Given the description of an element on the screen output the (x, y) to click on. 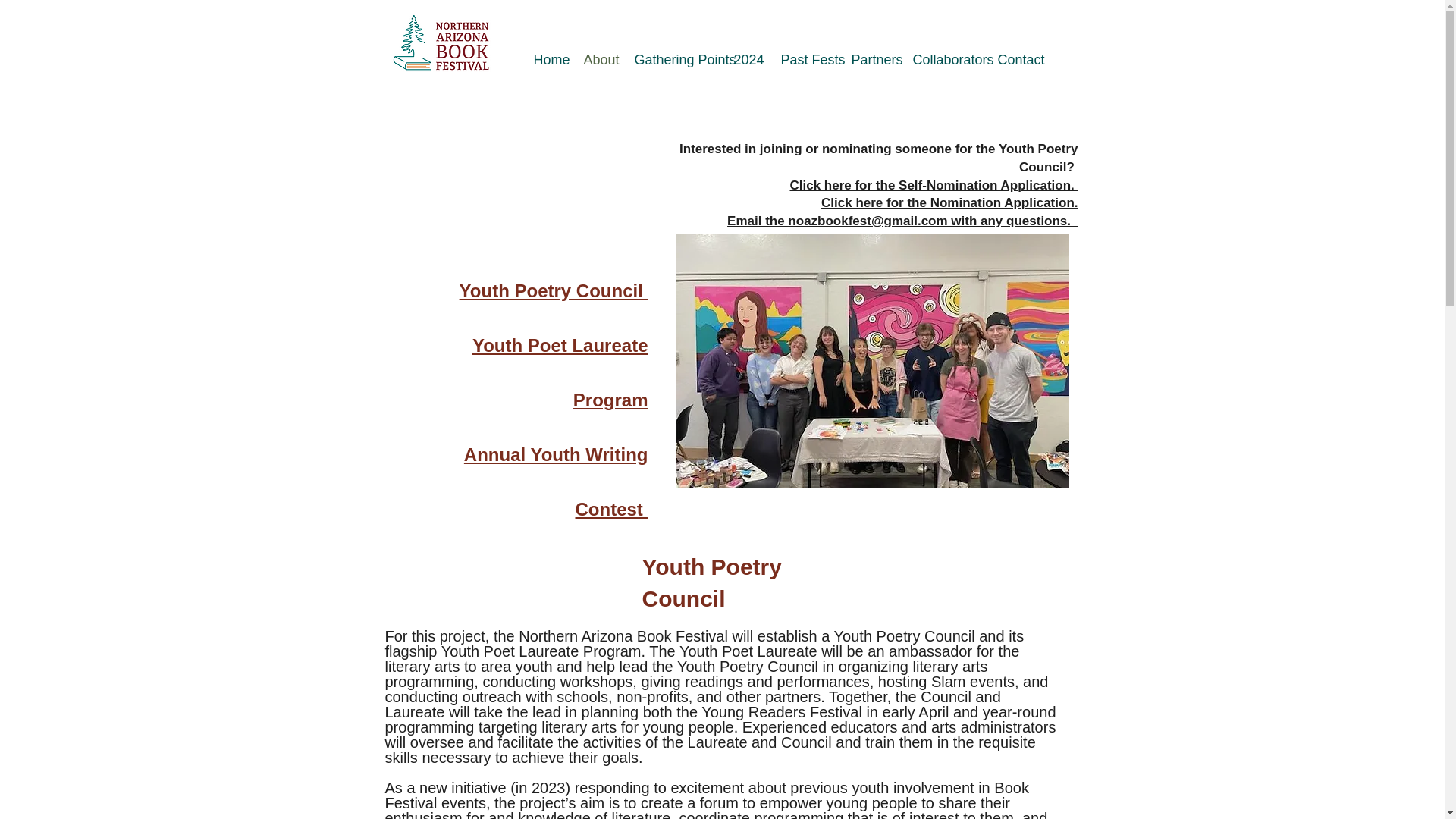
Past Fests (804, 59)
Gathering Points (672, 59)
